Given the description of an element on the screen output the (x, y) to click on. 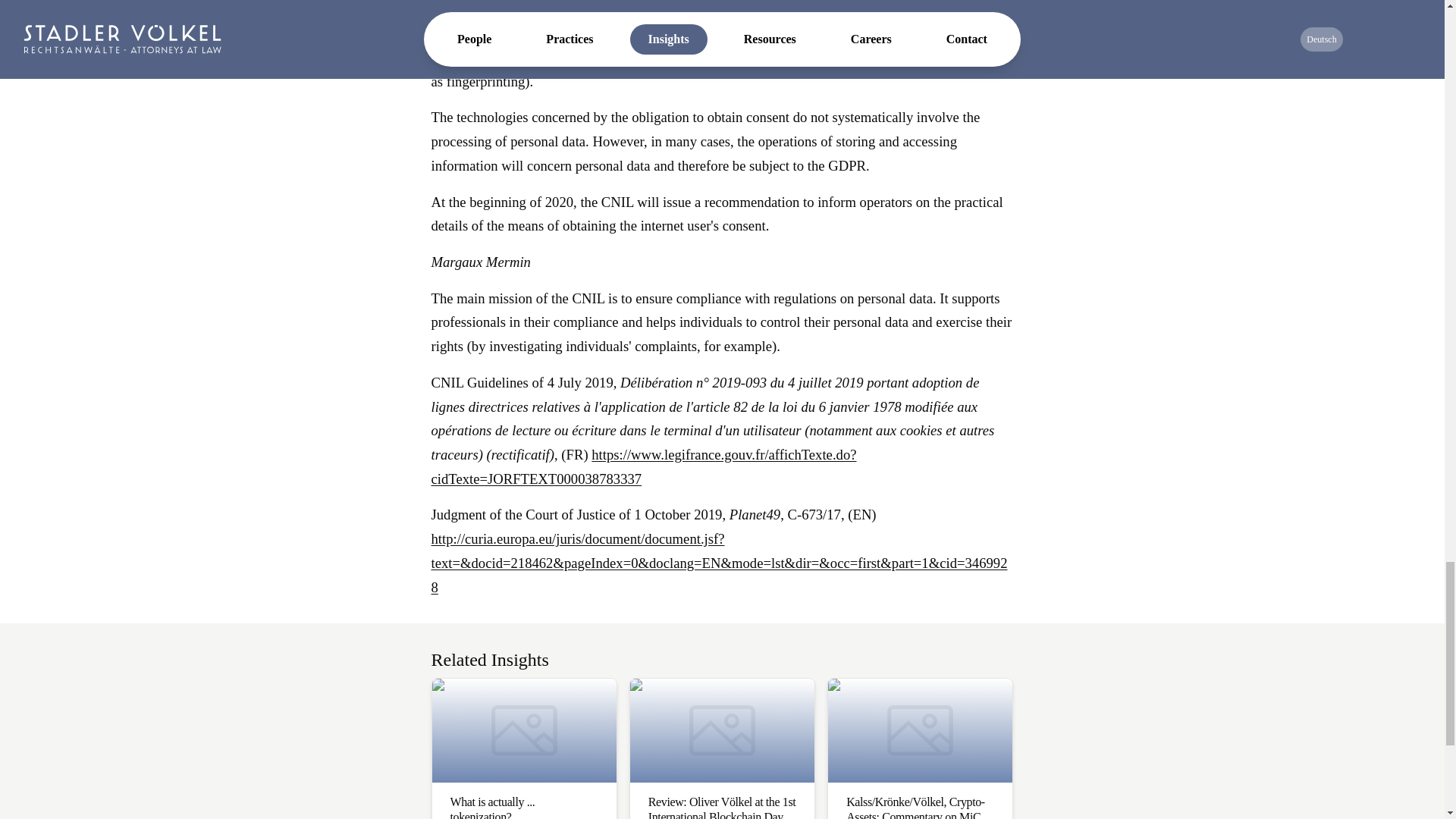
What is actually ... tokenization?  (522, 748)
